Given the description of an element on the screen output the (x, y) to click on. 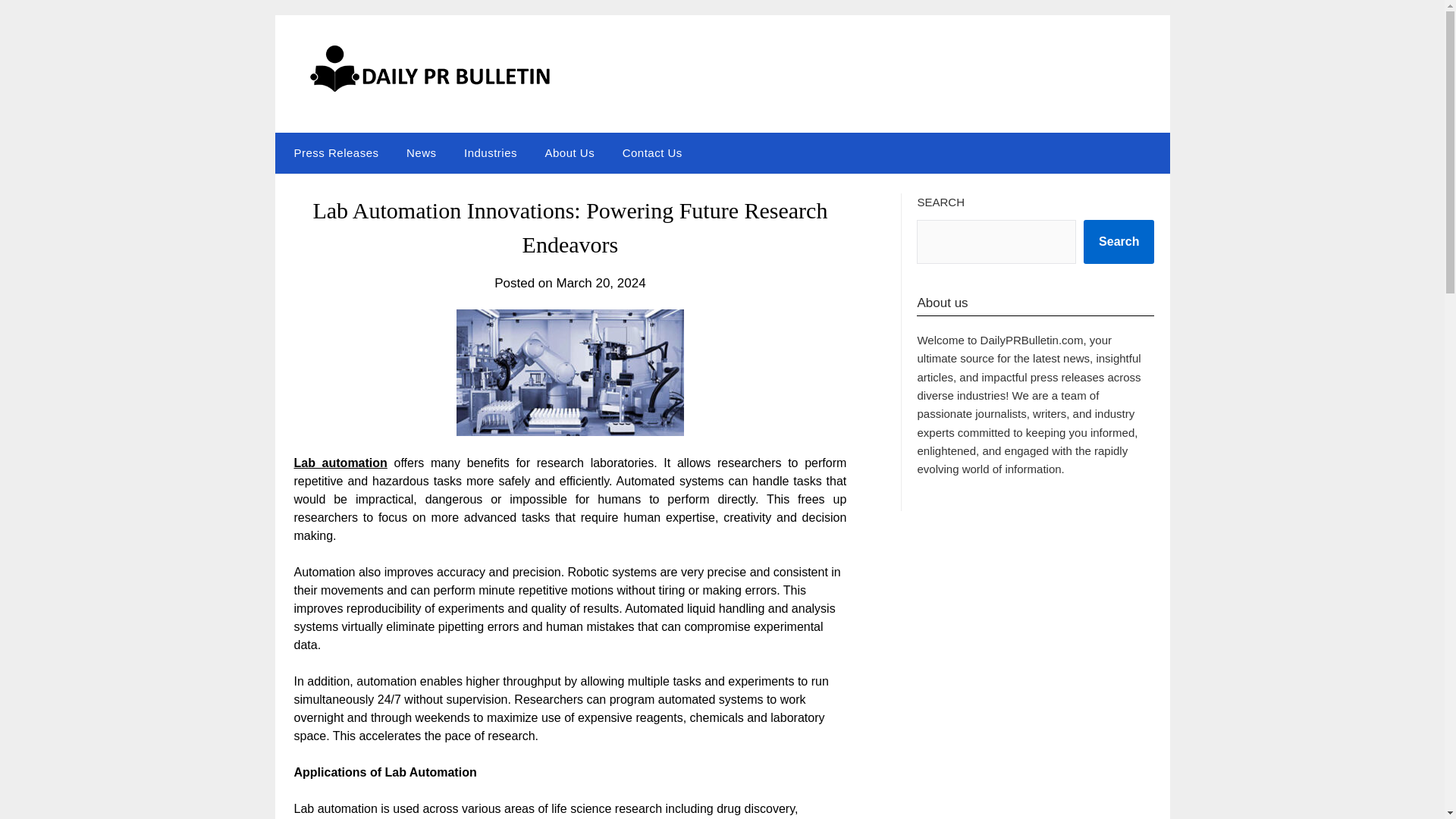
Search (1118, 241)
Contact Us (652, 152)
Lab automation (340, 462)
Industries (490, 152)
About Us (569, 152)
Press Releases (332, 152)
News (421, 152)
